Given the description of an element on the screen output the (x, y) to click on. 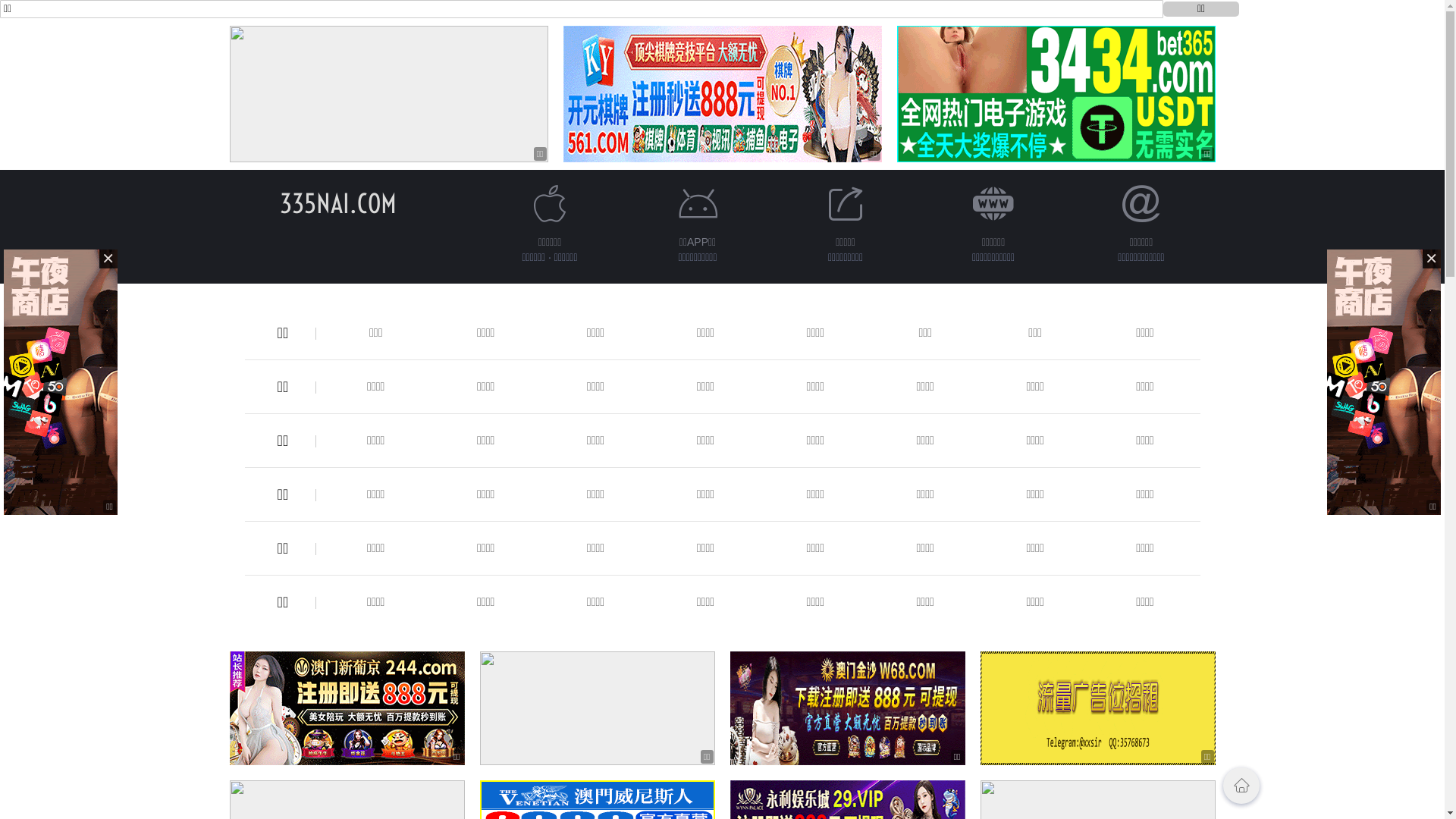
335NAI.COM Element type: text (337, 203)
